Given the description of an element on the screen output the (x, y) to click on. 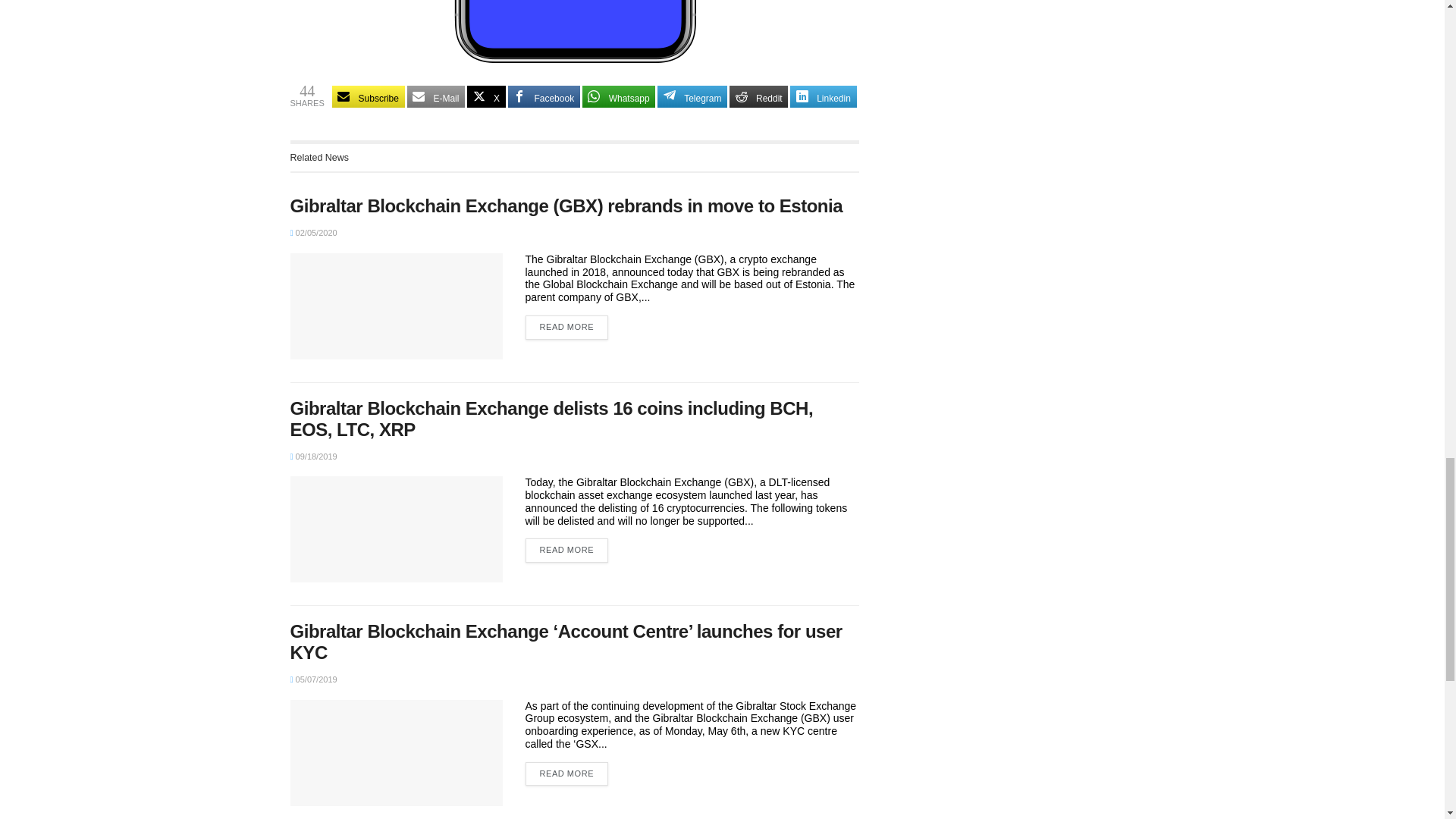
E-Mail (436, 96)
Facebook (543, 96)
Subscribe (367, 96)
Whatsapp (619, 96)
X (486, 96)
